Given the description of an element on the screen output the (x, y) to click on. 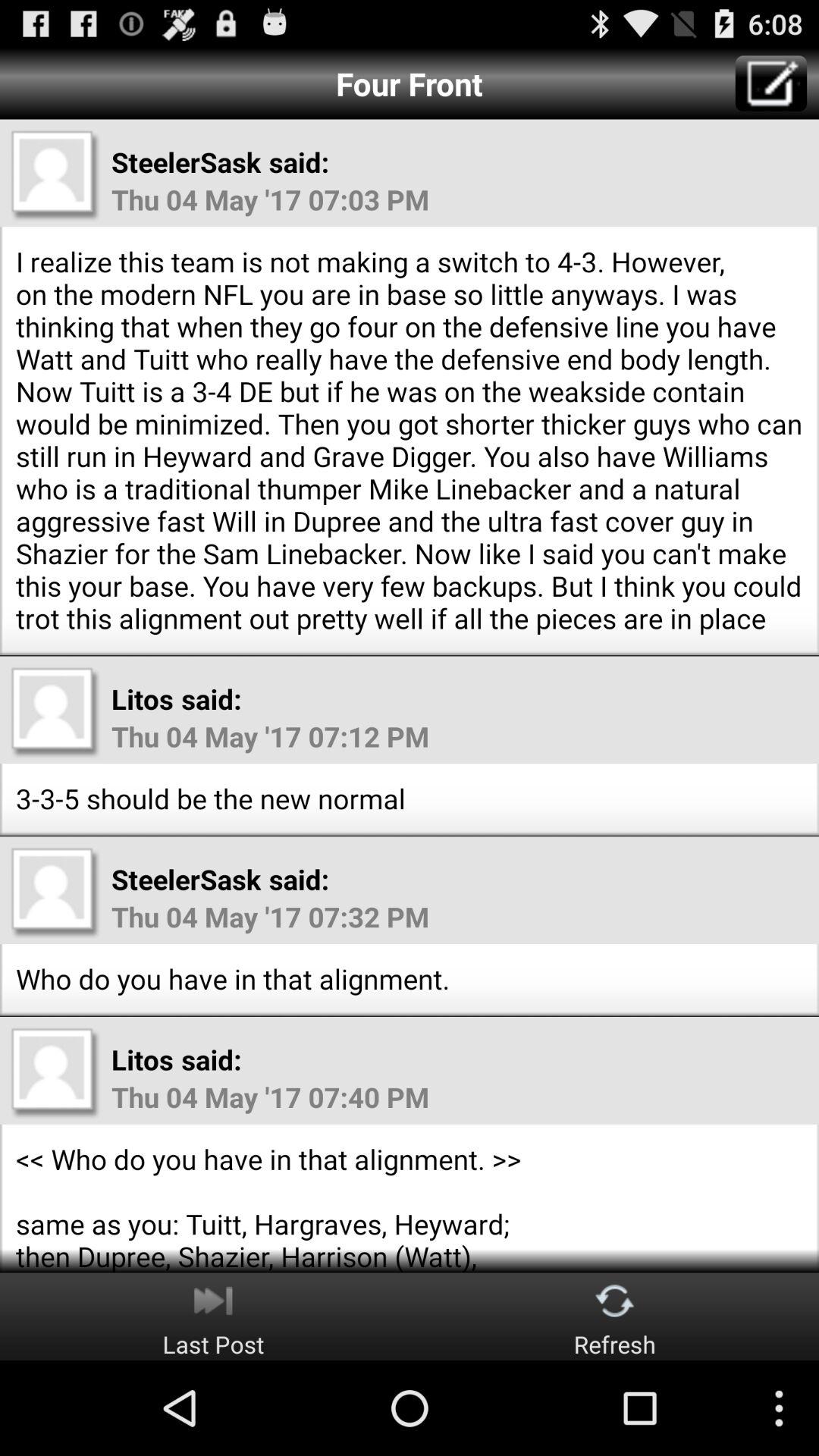
turn off the last post button (213, 1316)
